Given the description of an element on the screen output the (x, y) to click on. 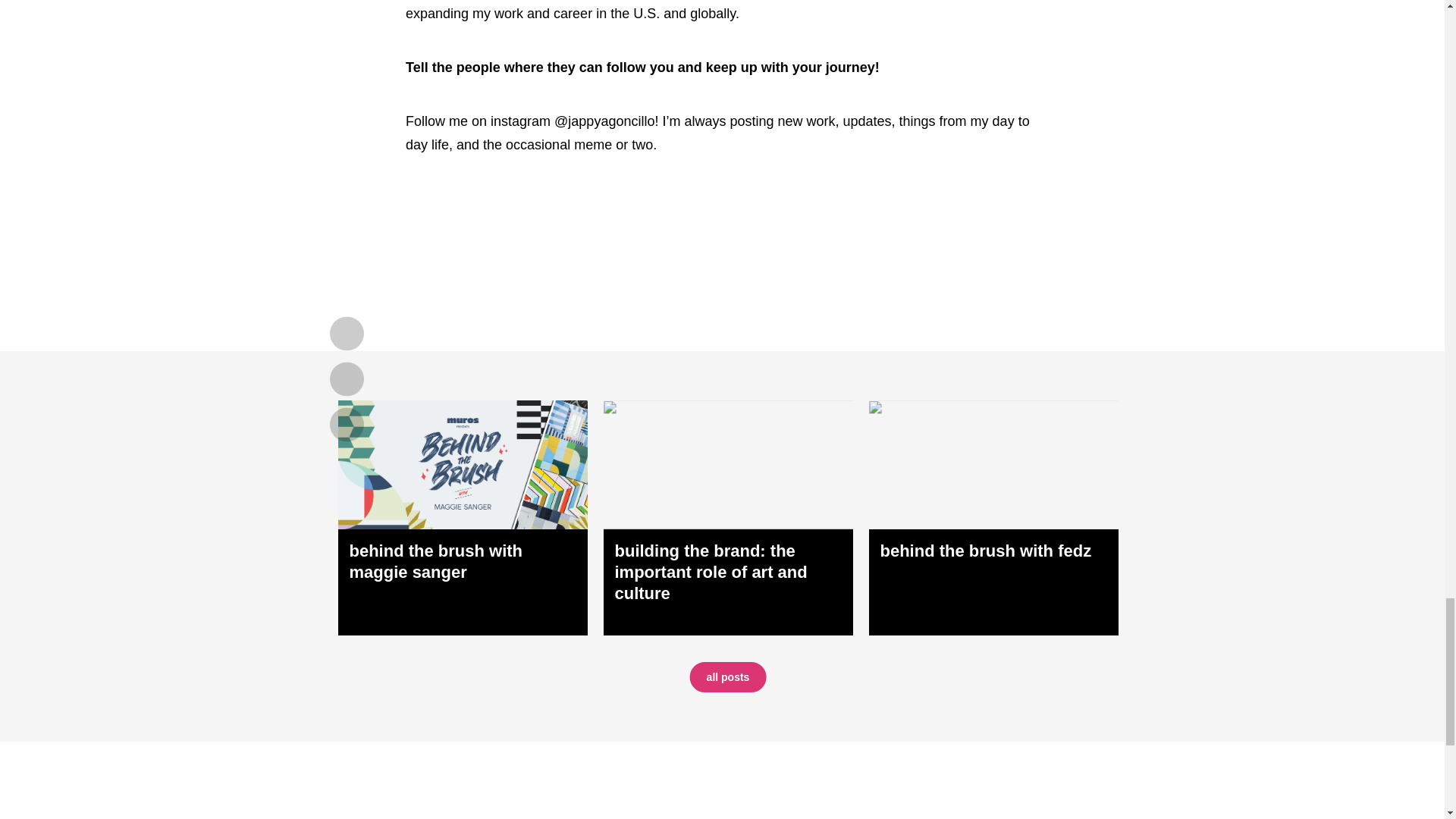
building the brand: the important role of art and culture (728, 517)
behind the brush with fedz (993, 517)
all posts (728, 676)
behind the brush with maggie sanger (462, 517)
